Given the description of an element on the screen output the (x, y) to click on. 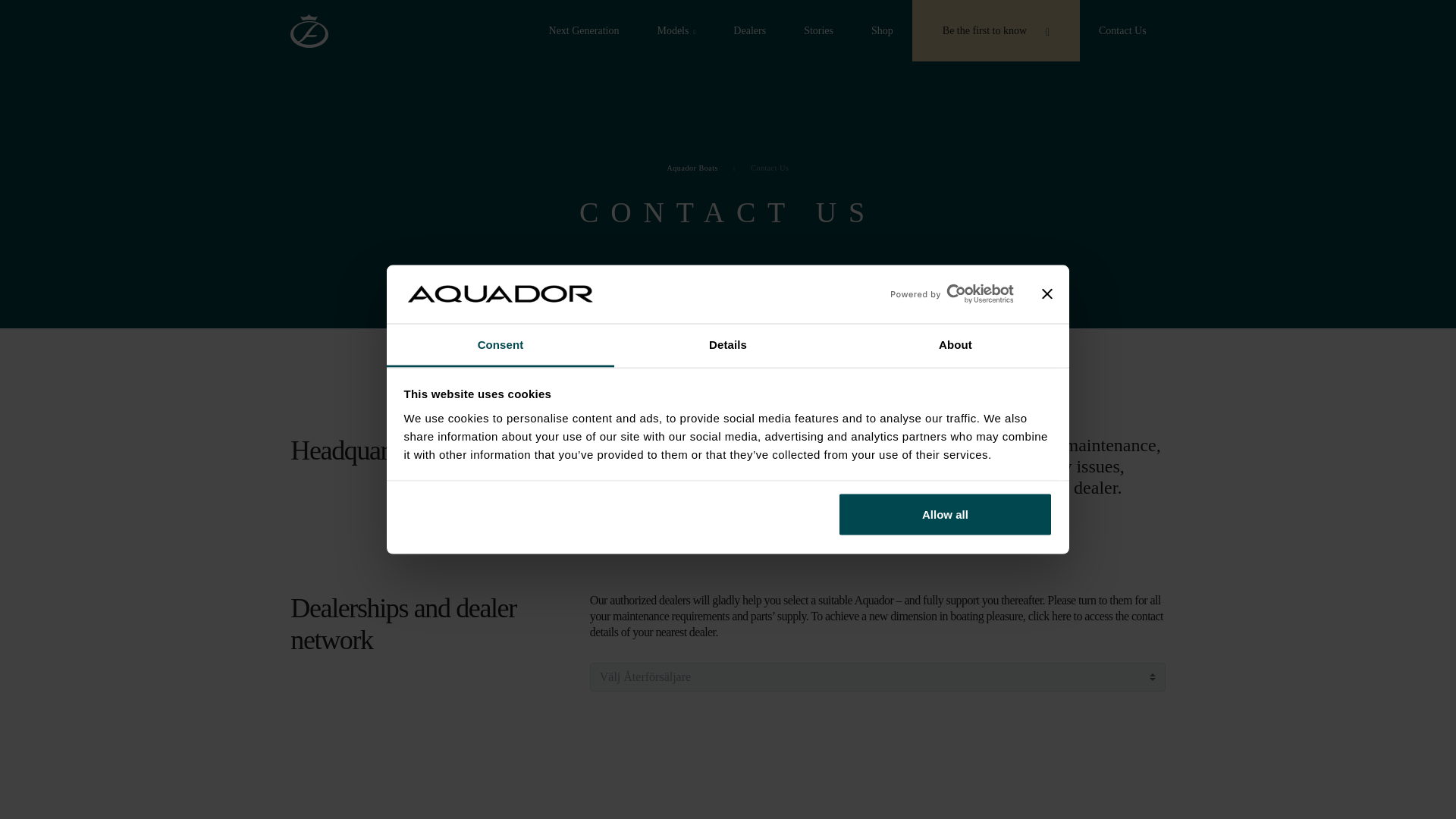
About (954, 344)
Details (727, 344)
Consent (500, 344)
